Given the description of an element on the screen output the (x, y) to click on. 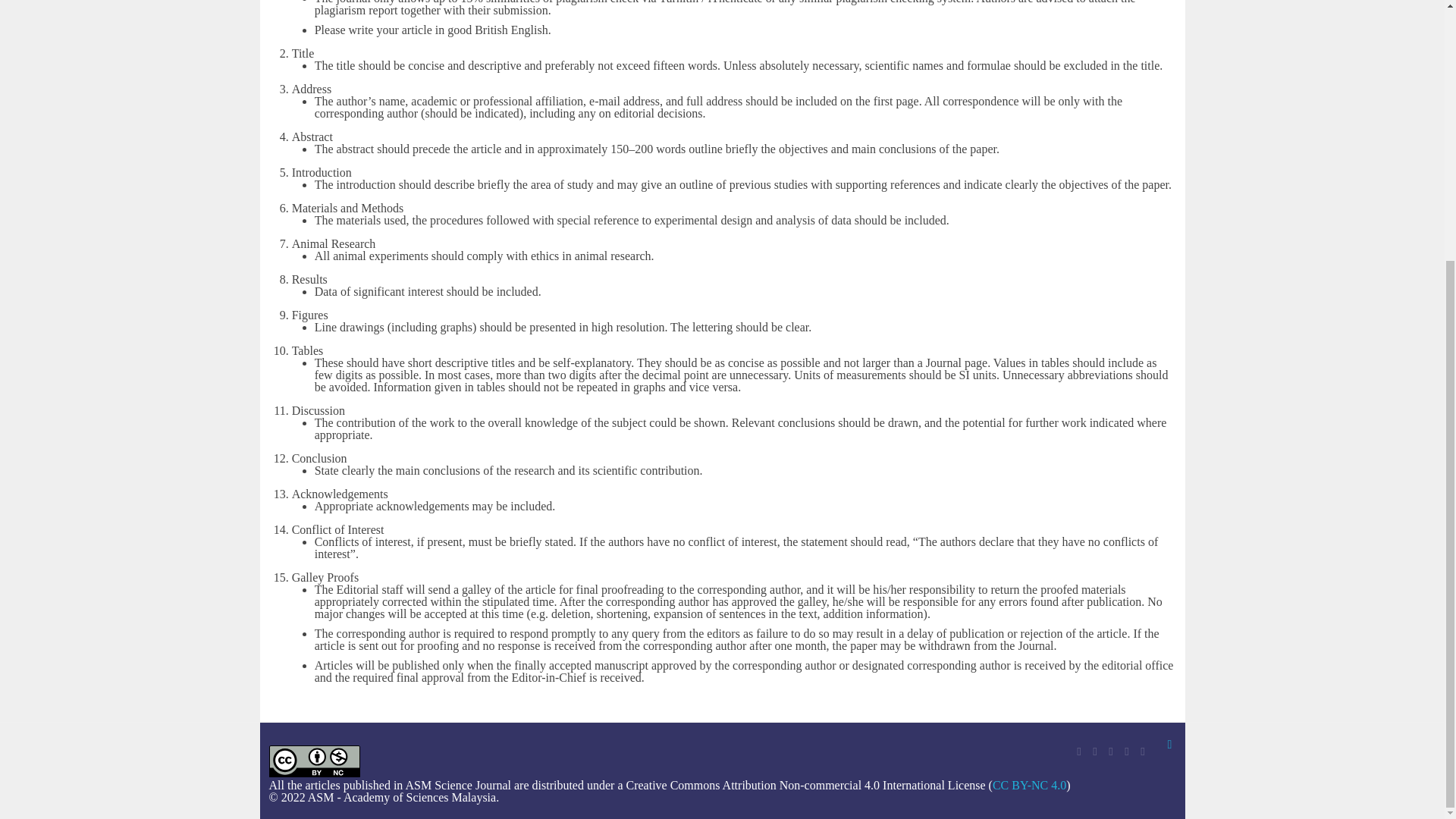
Facebook (1079, 751)
LinkedIn (1126, 751)
CC BY-NC 4.0 (1028, 784)
YouTube (1110, 751)
Instagram (1142, 751)
